Given the description of an element on the screen output the (x, y) to click on. 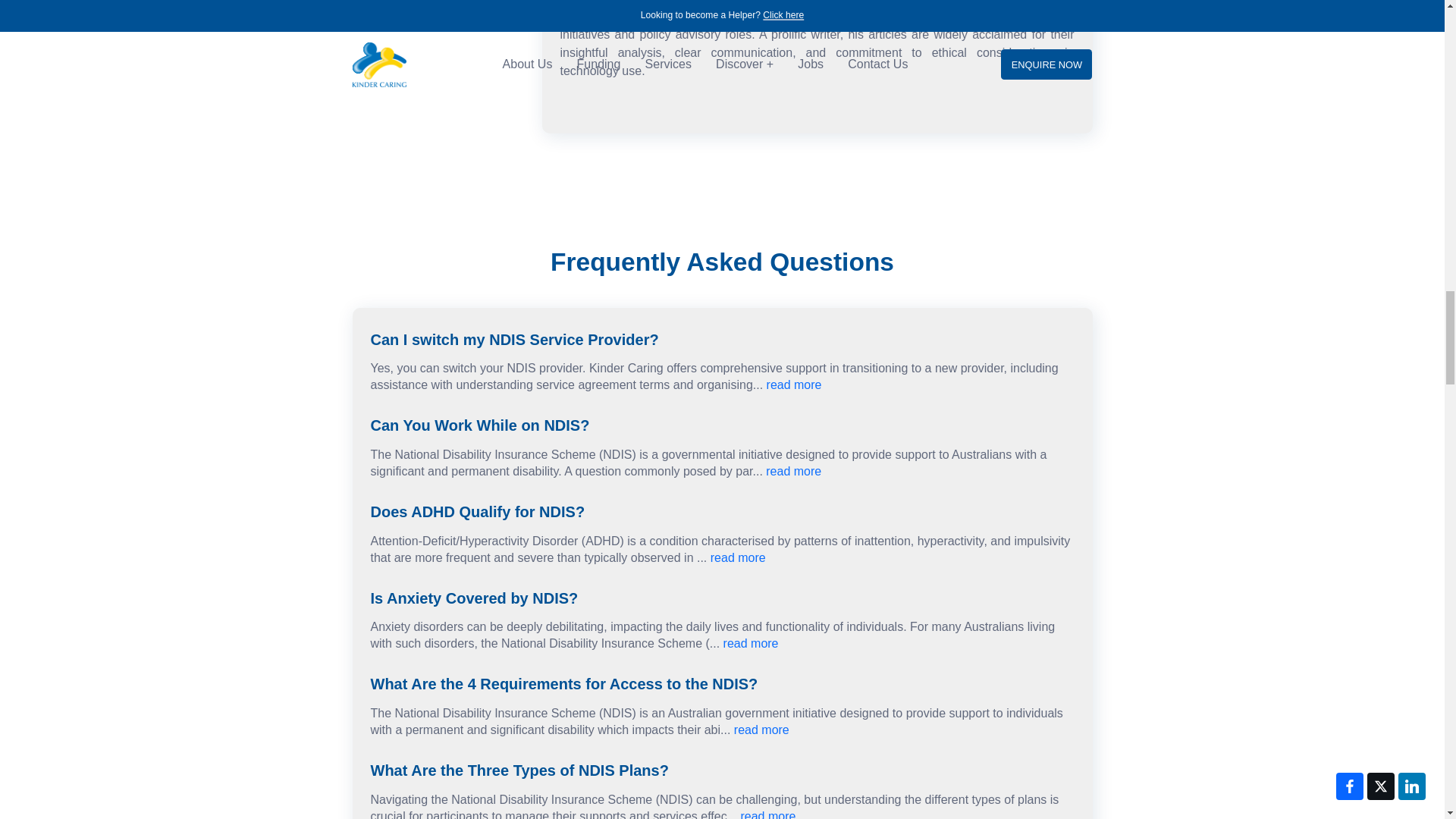
read more (793, 471)
read more (794, 384)
read more (761, 729)
read more (737, 557)
read more (766, 814)
read more (750, 643)
